Given the description of an element on the screen output the (x, y) to click on. 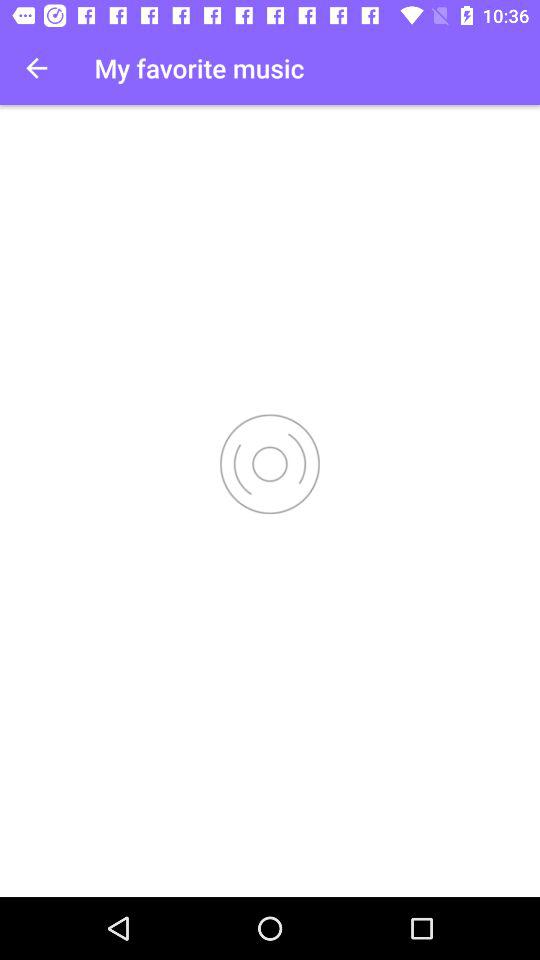
click the item next to the my favorite music (36, 68)
